Given the description of an element on the screen output the (x, y) to click on. 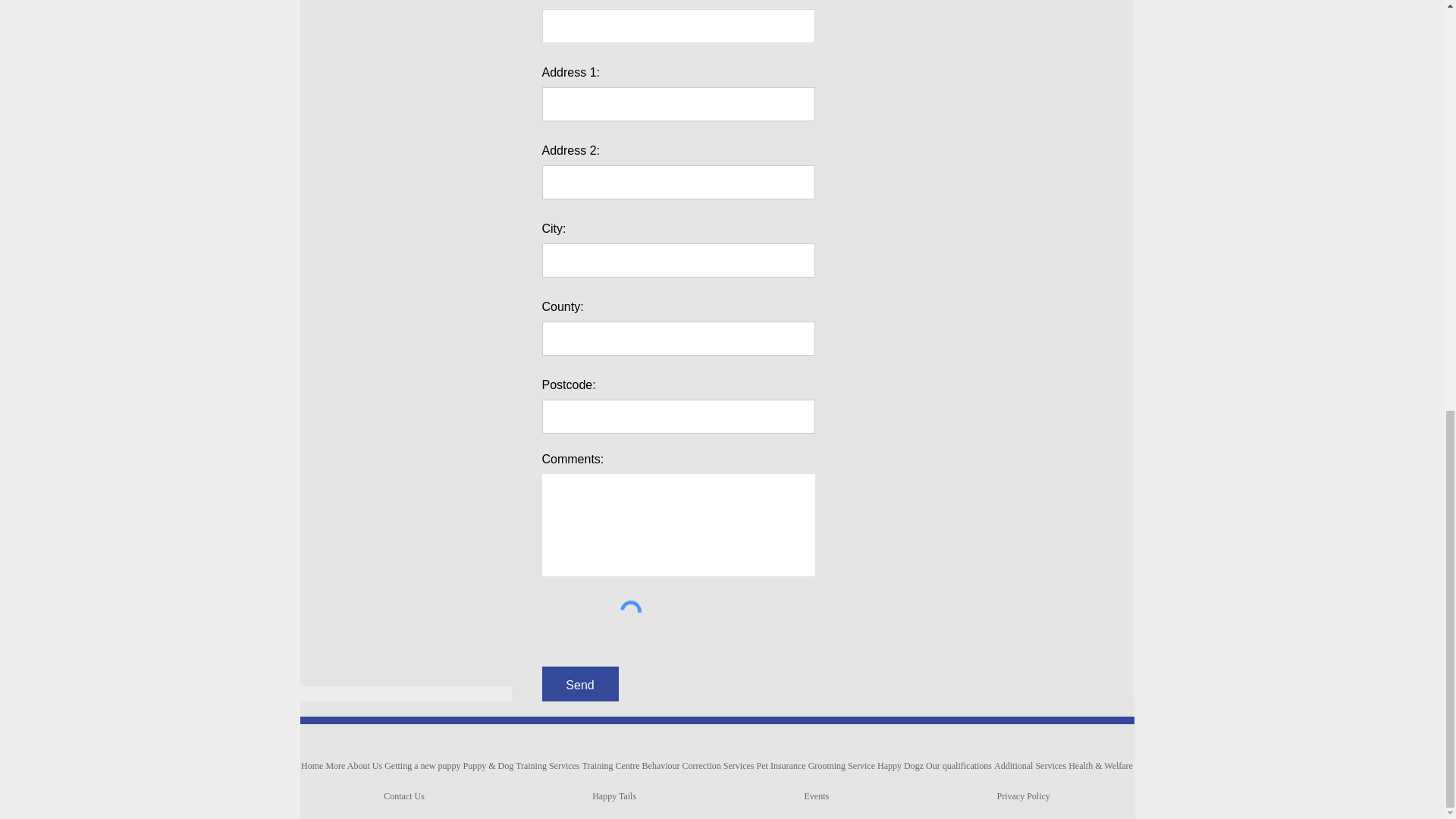
Send (579, 685)
Getting a new puppy (422, 766)
More About Us (354, 766)
